Given the description of an element on the screen output the (x, y) to click on. 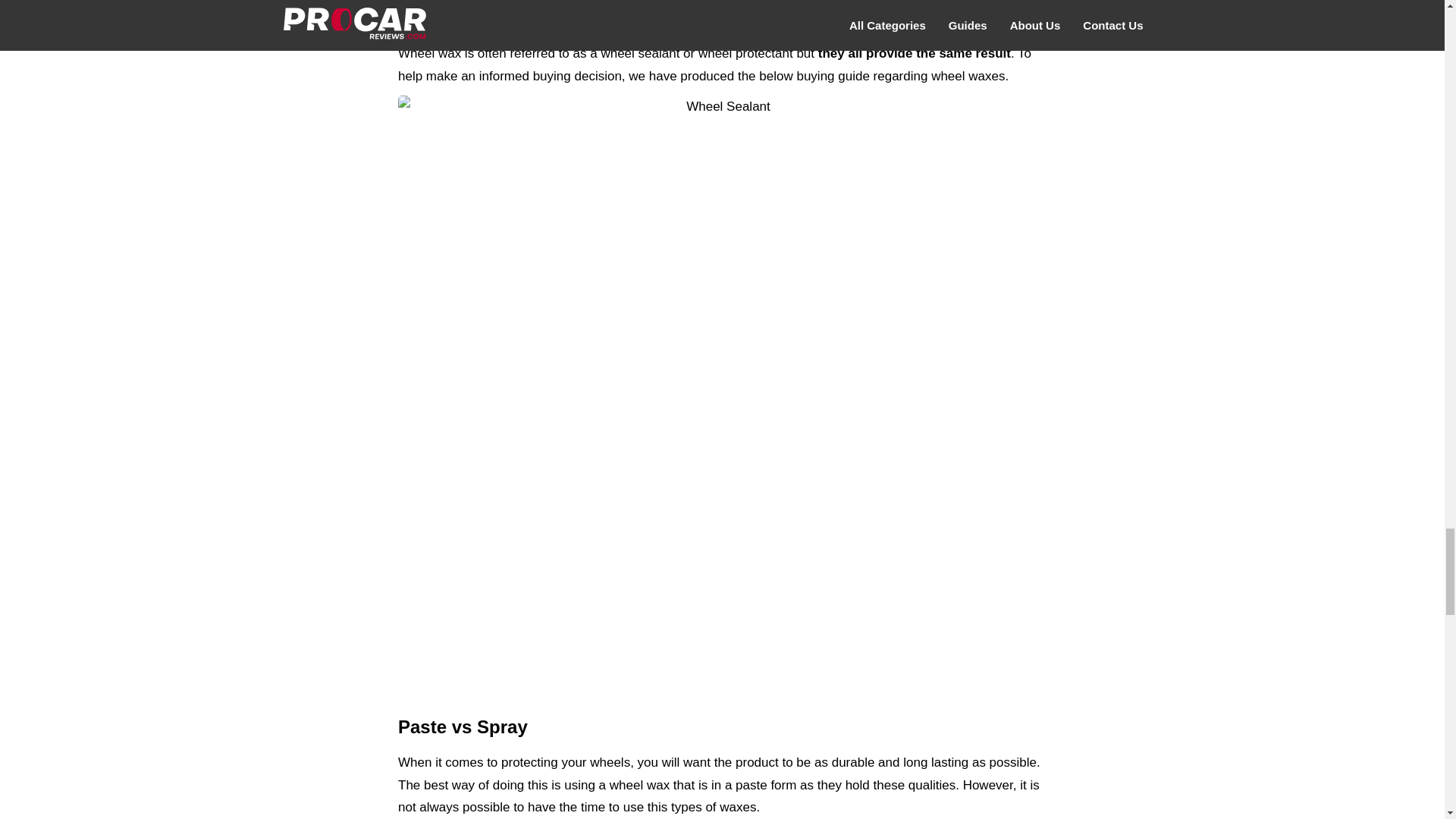
electric pressure washer (859, 4)
